Given the description of an element on the screen output the (x, y) to click on. 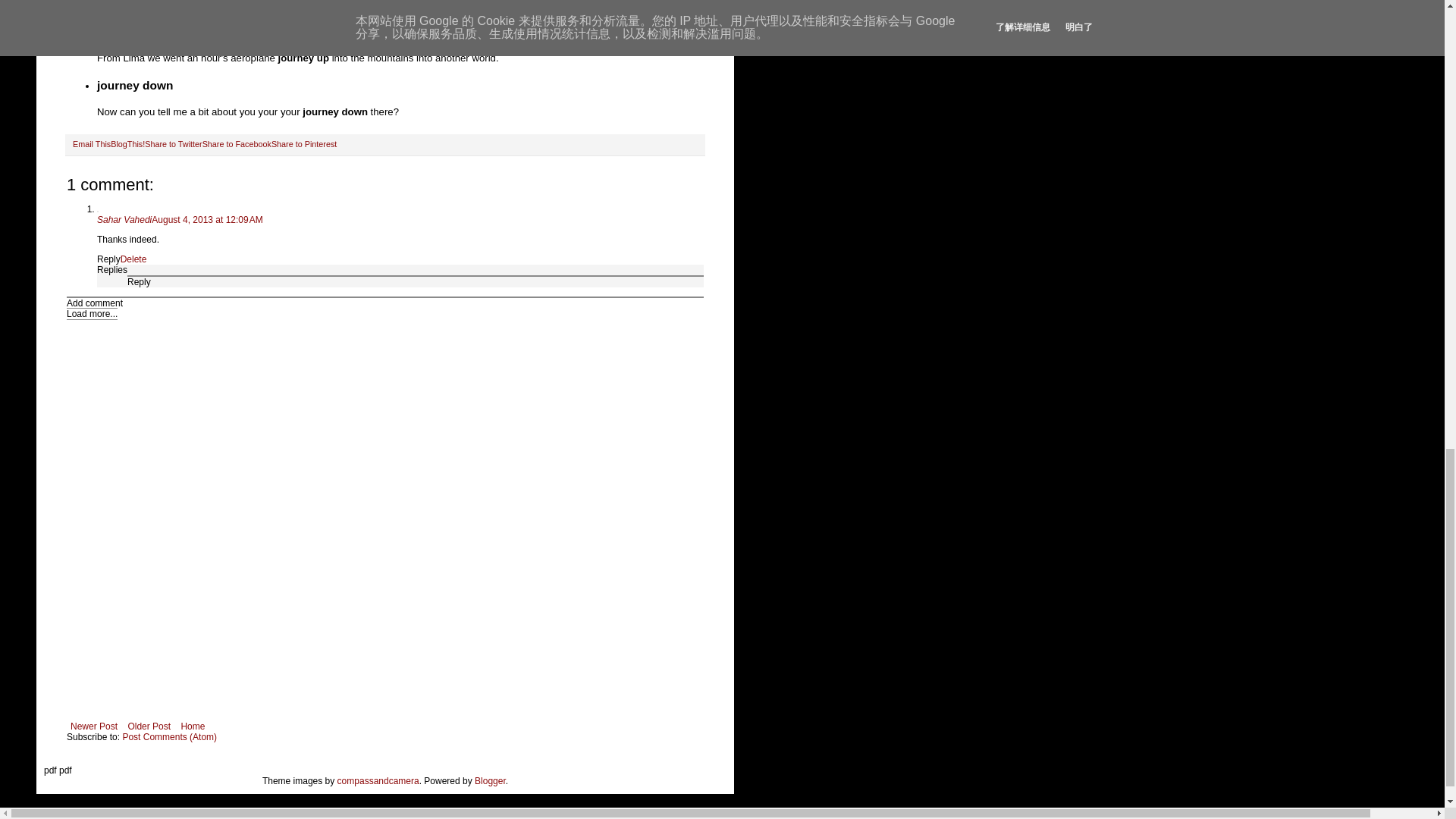
Load more... (91, 313)
Newer Post (93, 726)
Share to Pinterest (303, 143)
Older Post (148, 726)
Email This (91, 143)
Home (192, 726)
Email This (91, 143)
Older Post (148, 726)
BlogThis! (127, 143)
compassandcamera (378, 780)
Share to Facebook (236, 143)
Delete (133, 258)
BlogThis! (127, 143)
Replies (112, 269)
Reply (108, 258)
